Given the description of an element on the screen output the (x, y) to click on. 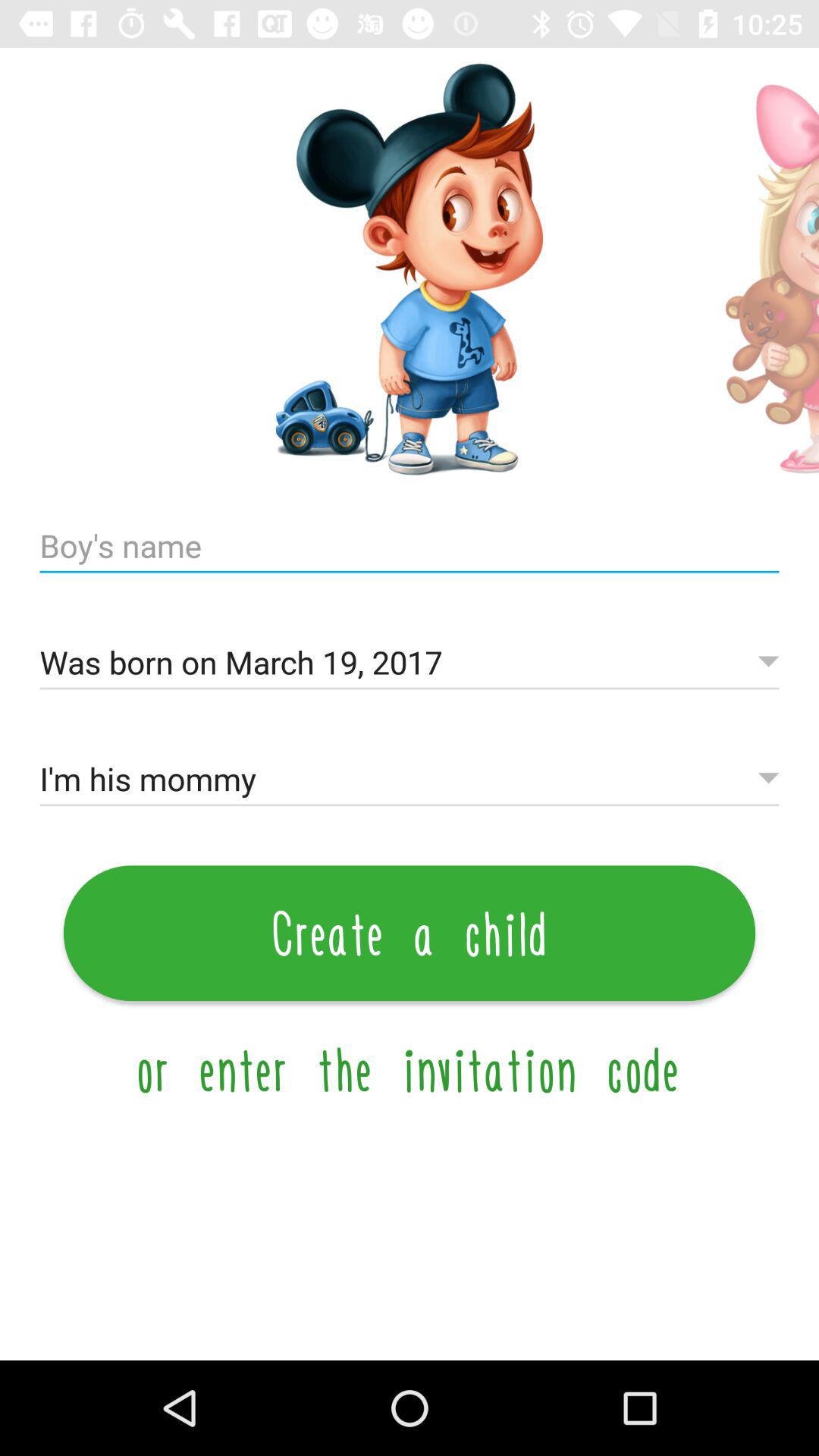
choose item above the or enter the item (409, 933)
